Given the description of an element on the screen output the (x, y) to click on. 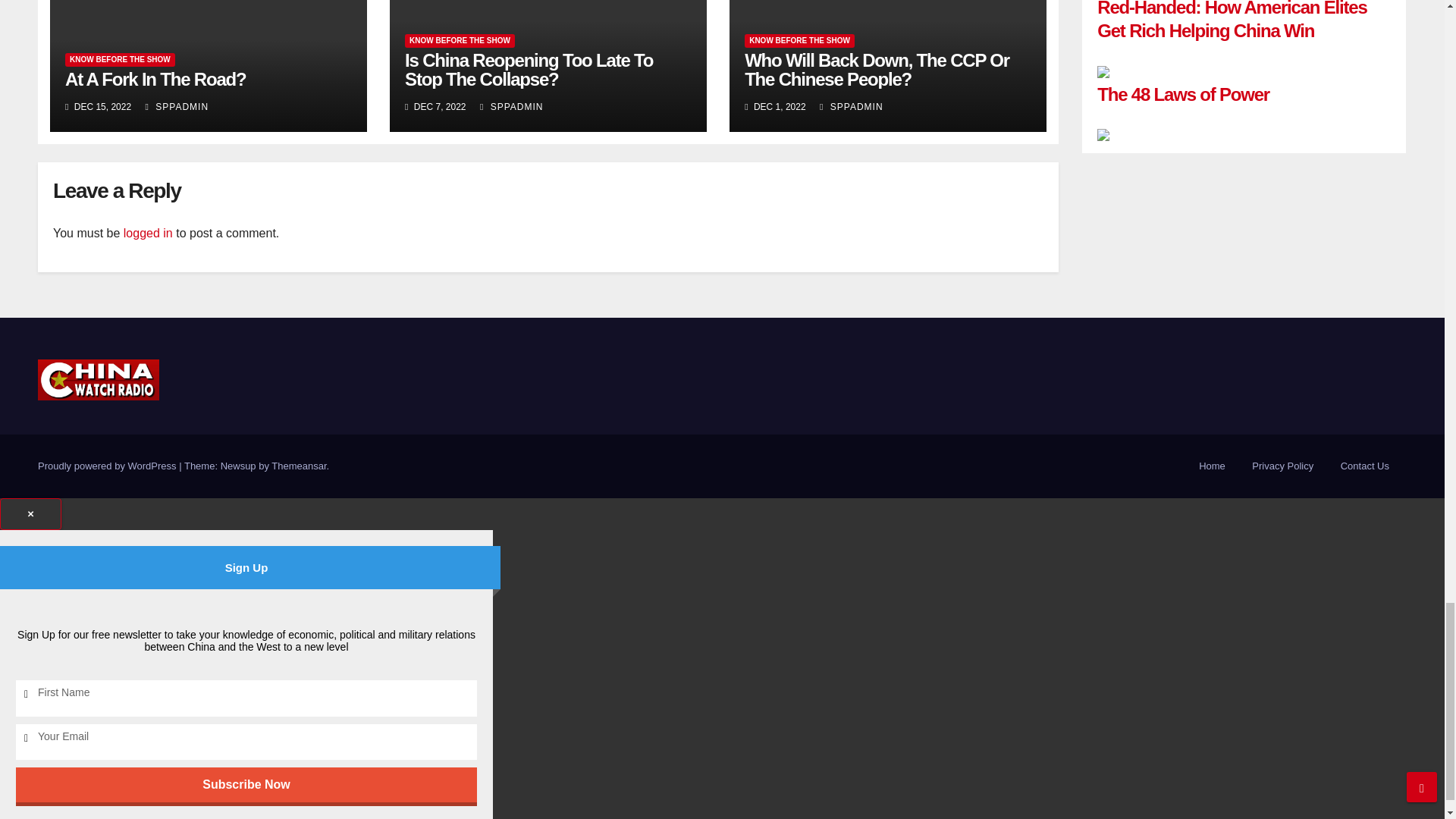
Privacy Policy (1282, 466)
Home (1211, 466)
Permalink to: At A Fork In The Road? (155, 78)
Subscribe Now (246, 784)
Contact Us (1364, 466)
